Given the description of an element on the screen output the (x, y) to click on. 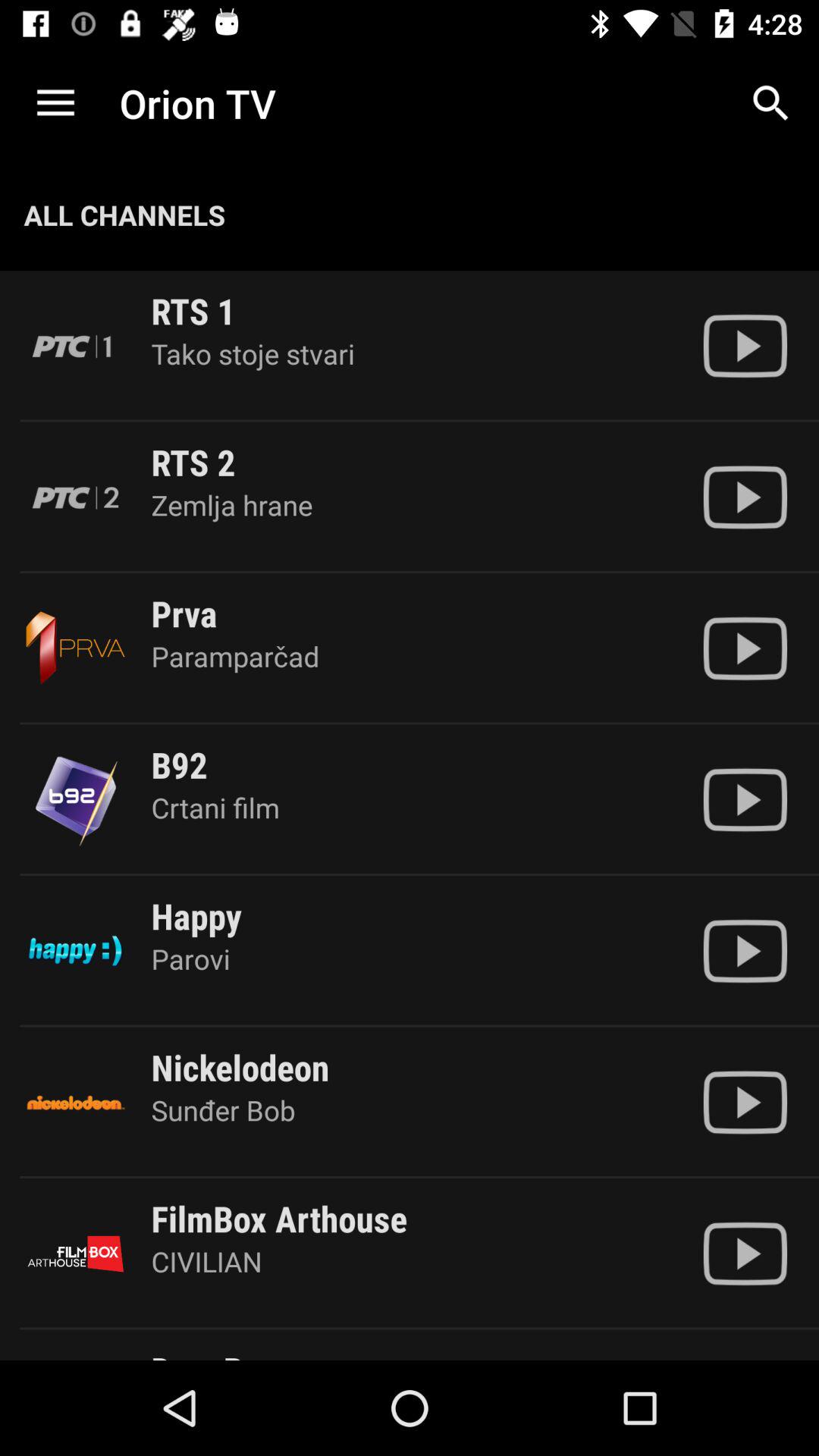
launch the app next to the orion tv item (55, 103)
